Given the description of an element on the screen output the (x, y) to click on. 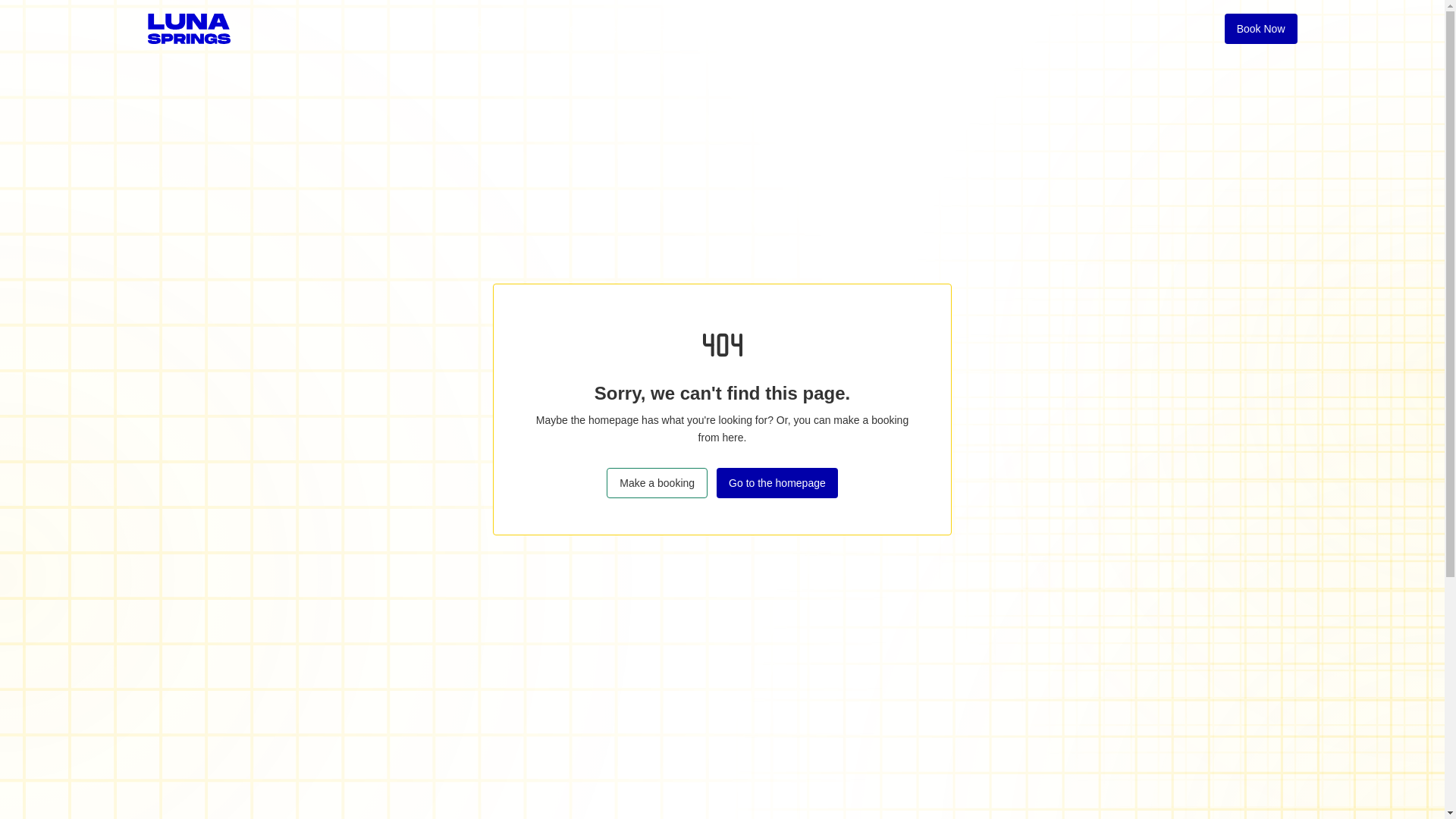
Book Now (1260, 28)
Offers (771, 28)
Sorry, we can't find this page. (722, 393)
Events (480, 28)
Make a booking (657, 482)
Go to the homepage (777, 482)
Bottomless Brunch (577, 28)
Hire Us (840, 28)
Moonlight Cinema (936, 28)
